Given the description of an element on the screen output the (x, y) to click on. 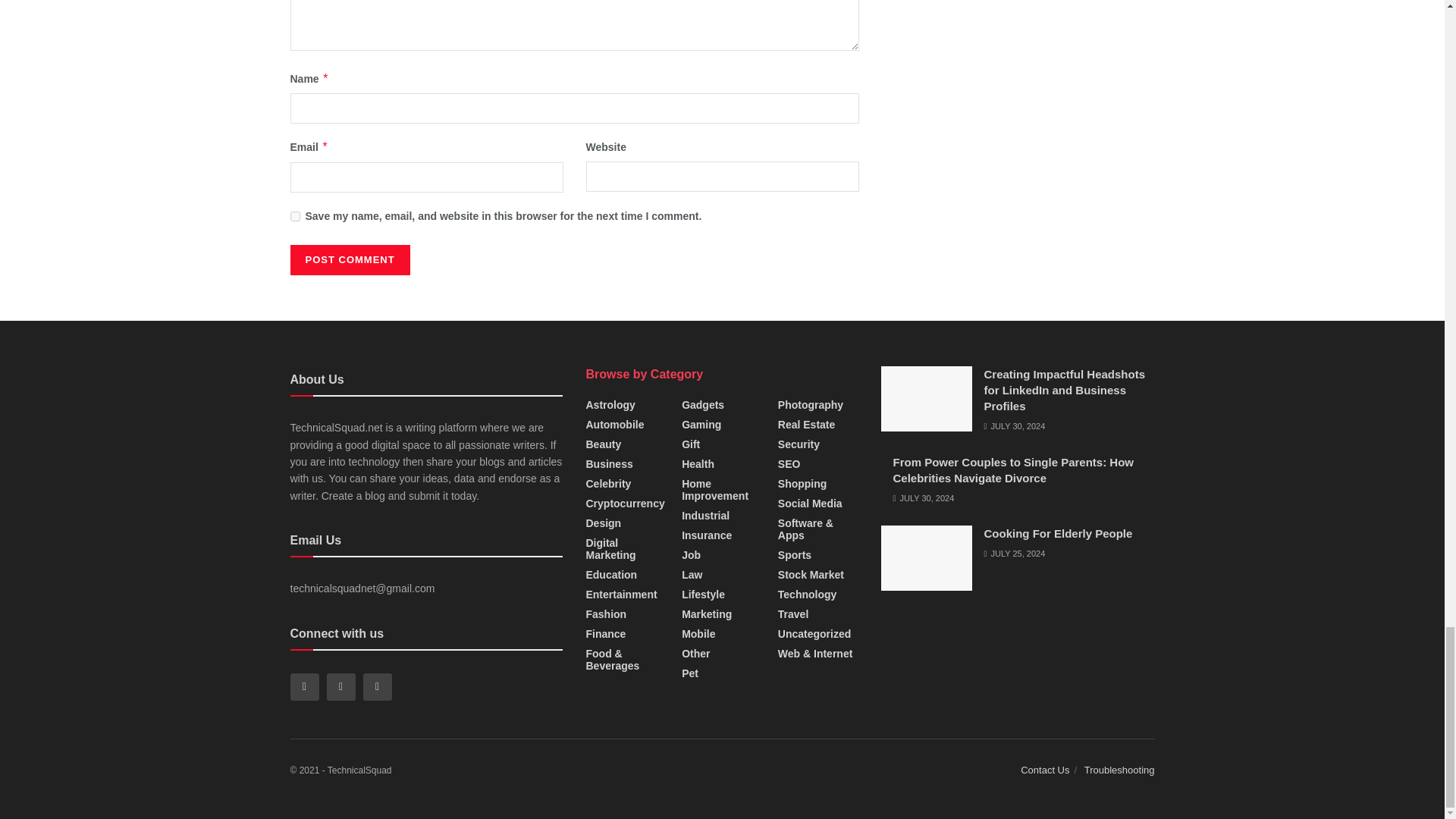
Post Comment (349, 259)
yes (294, 216)
